Given the description of an element on the screen output the (x, y) to click on. 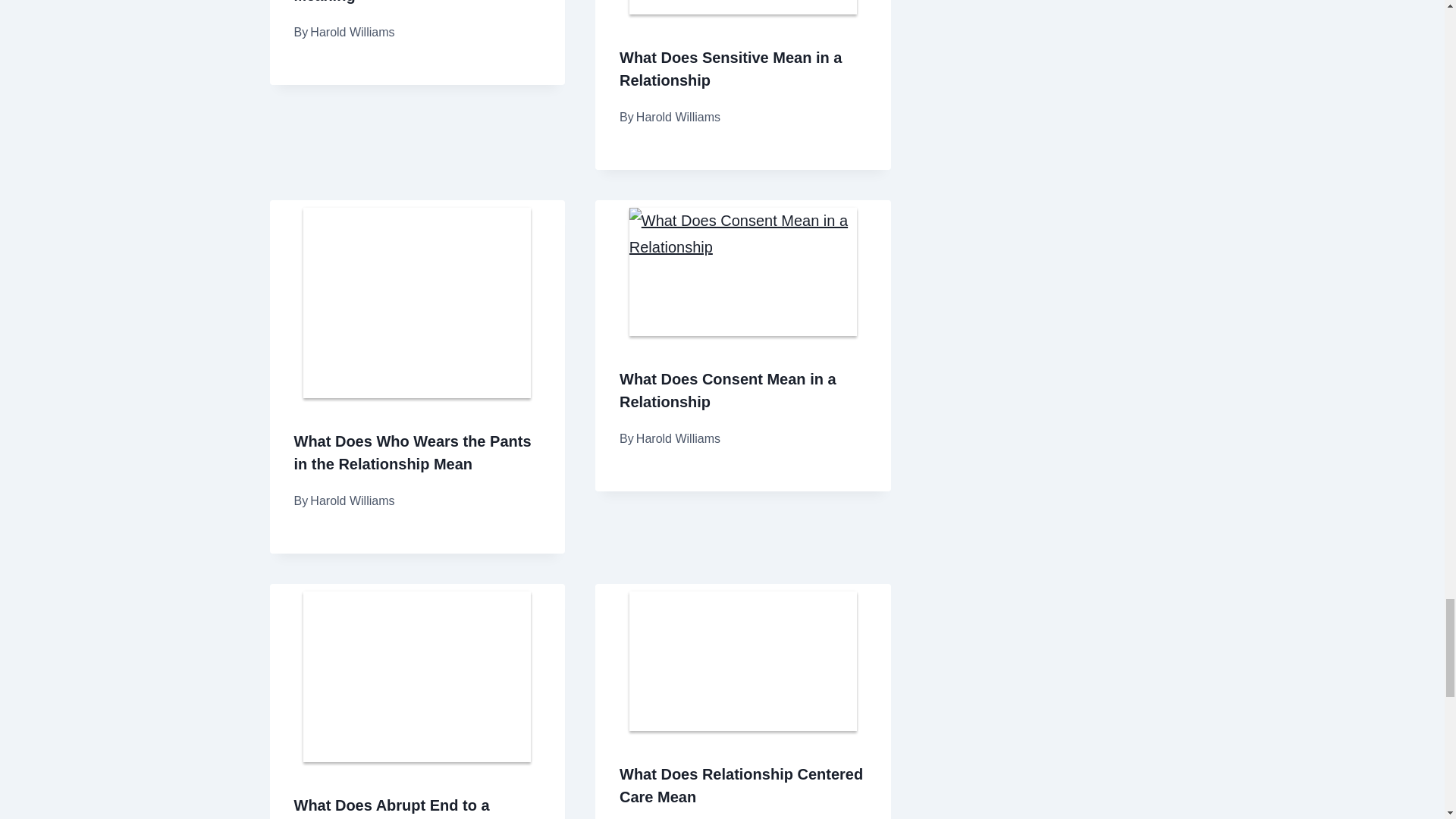
What Does Who Wears the Pants in the Relationship Mean (412, 452)
No Relationship is All Sunshine Meaning (407, 2)
What Does Sensitive Mean in a Relationship (730, 68)
